Given the description of an element on the screen output the (x, y) to click on. 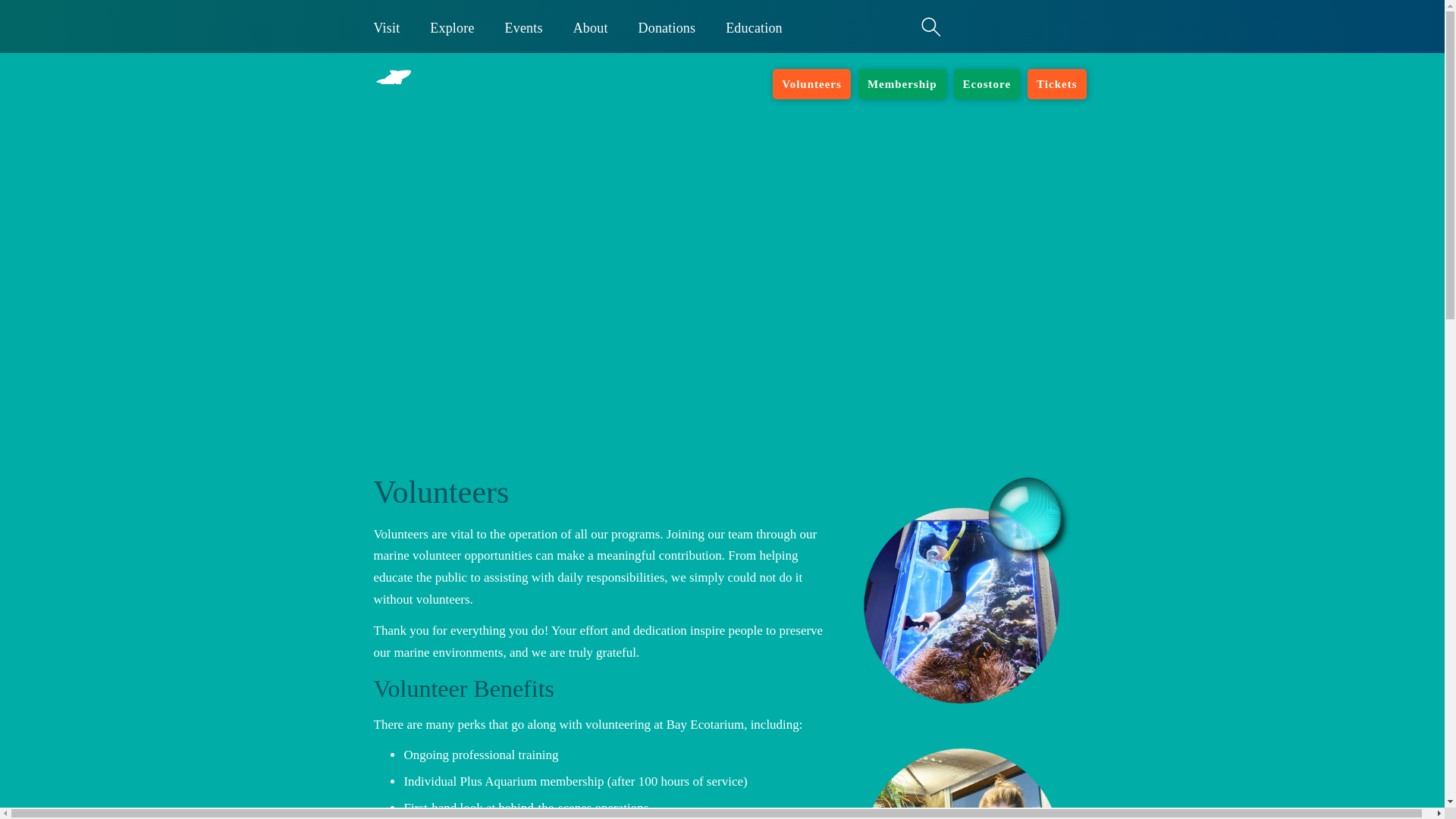
About (590, 26)
Donations (667, 26)
About (590, 26)
Explore (451, 26)
Events (523, 26)
Events (523, 26)
Visit (386, 26)
Explore (451, 26)
Visit (386, 26)
Donations (667, 26)
